Given the description of an element on the screen output the (x, y) to click on. 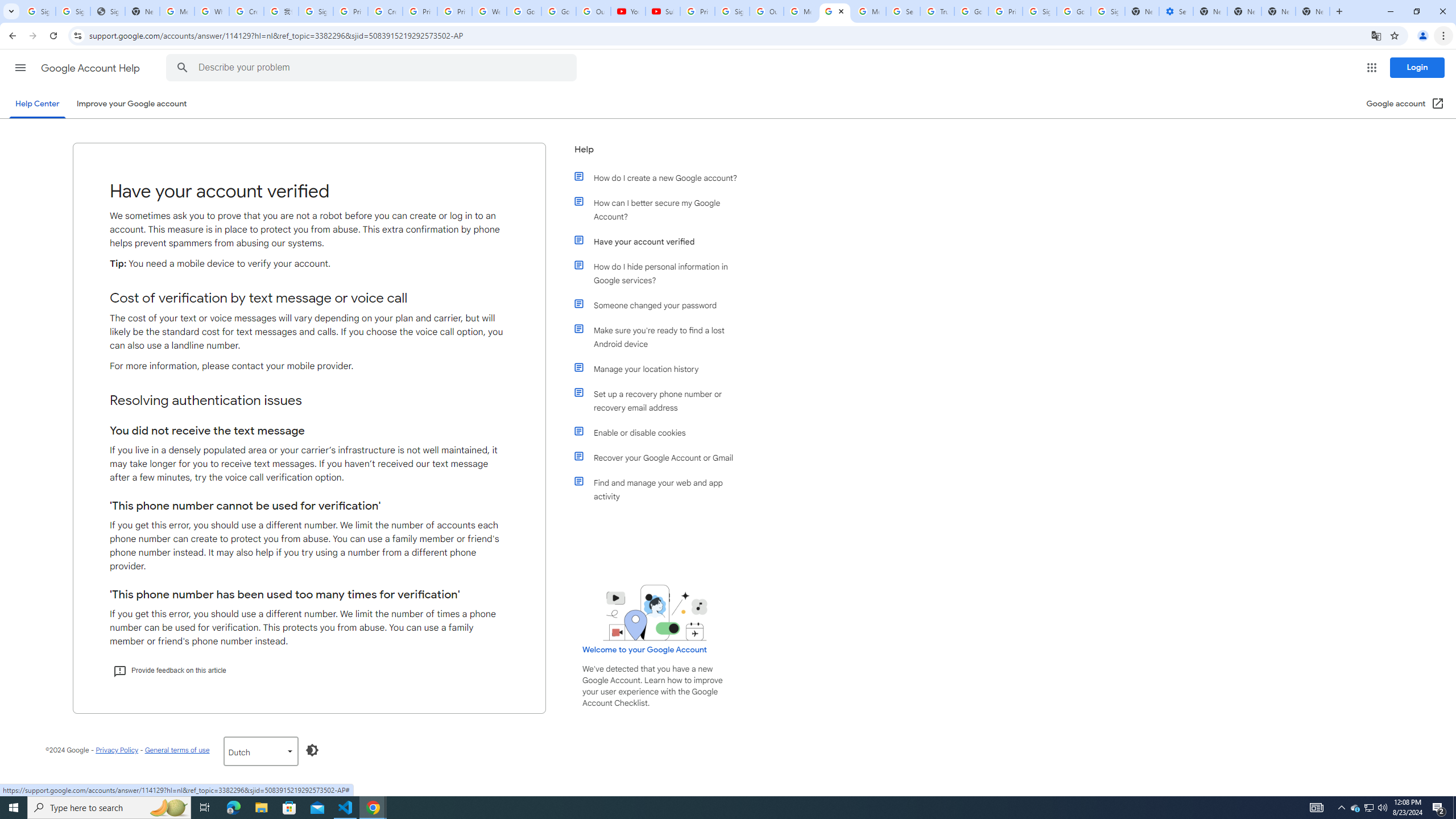
Subscriptions - YouTube (662, 11)
Login (1417, 67)
Sign in - Google Accounts (315, 11)
Create your Google Account (384, 11)
New Tab (1312, 11)
Google Account (557, 11)
YouTube (627, 11)
How do I create a new Google account? (661, 177)
